Given the description of an element on the screen output the (x, y) to click on. 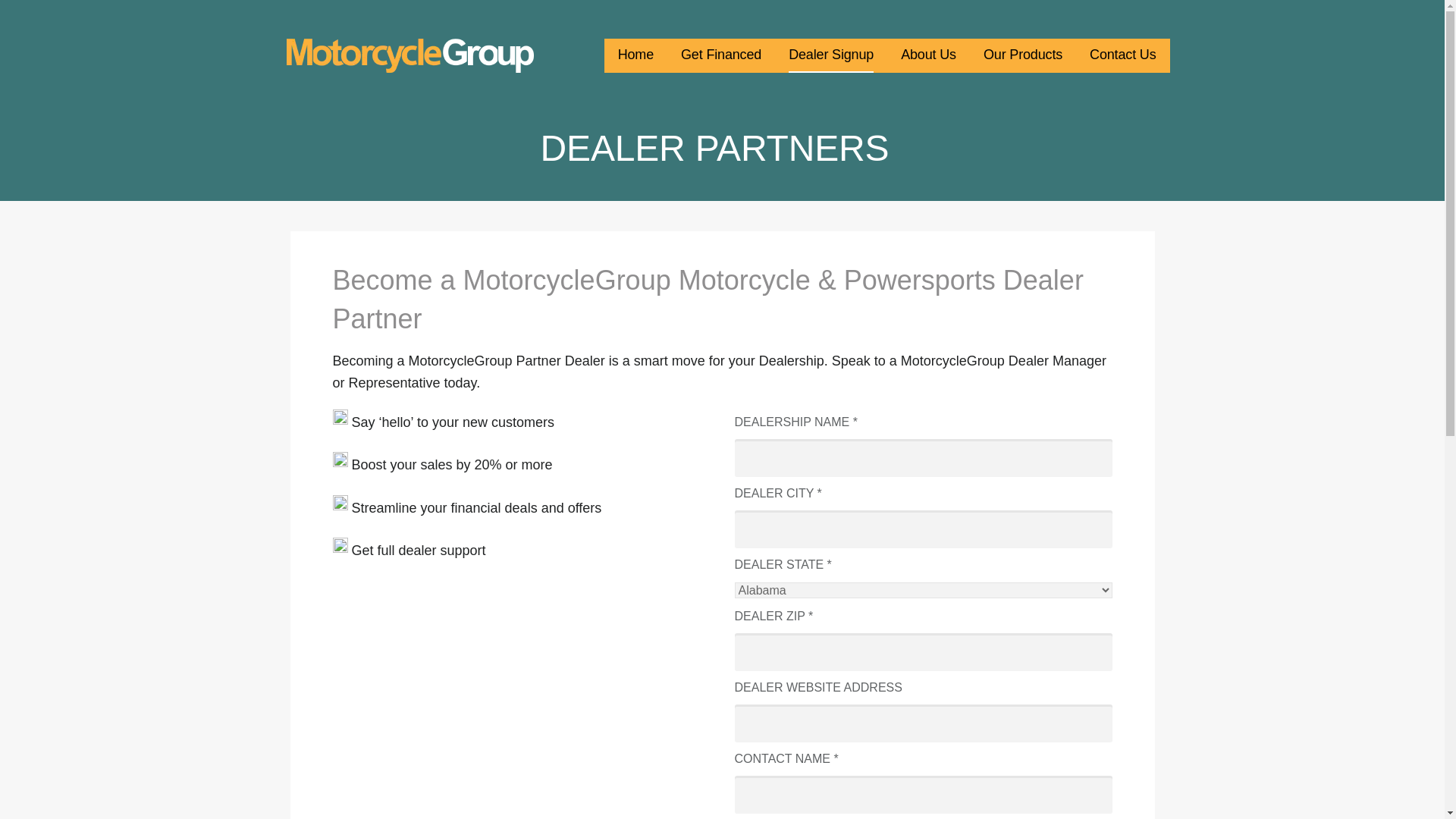
MotorcycleGroup (373, 83)
Our Products (1023, 55)
Home (635, 55)
Dealer Signup (831, 55)
About Us (928, 55)
Get Financed (721, 55)
Contact Us (1122, 55)
